Given the description of an element on the screen output the (x, y) to click on. 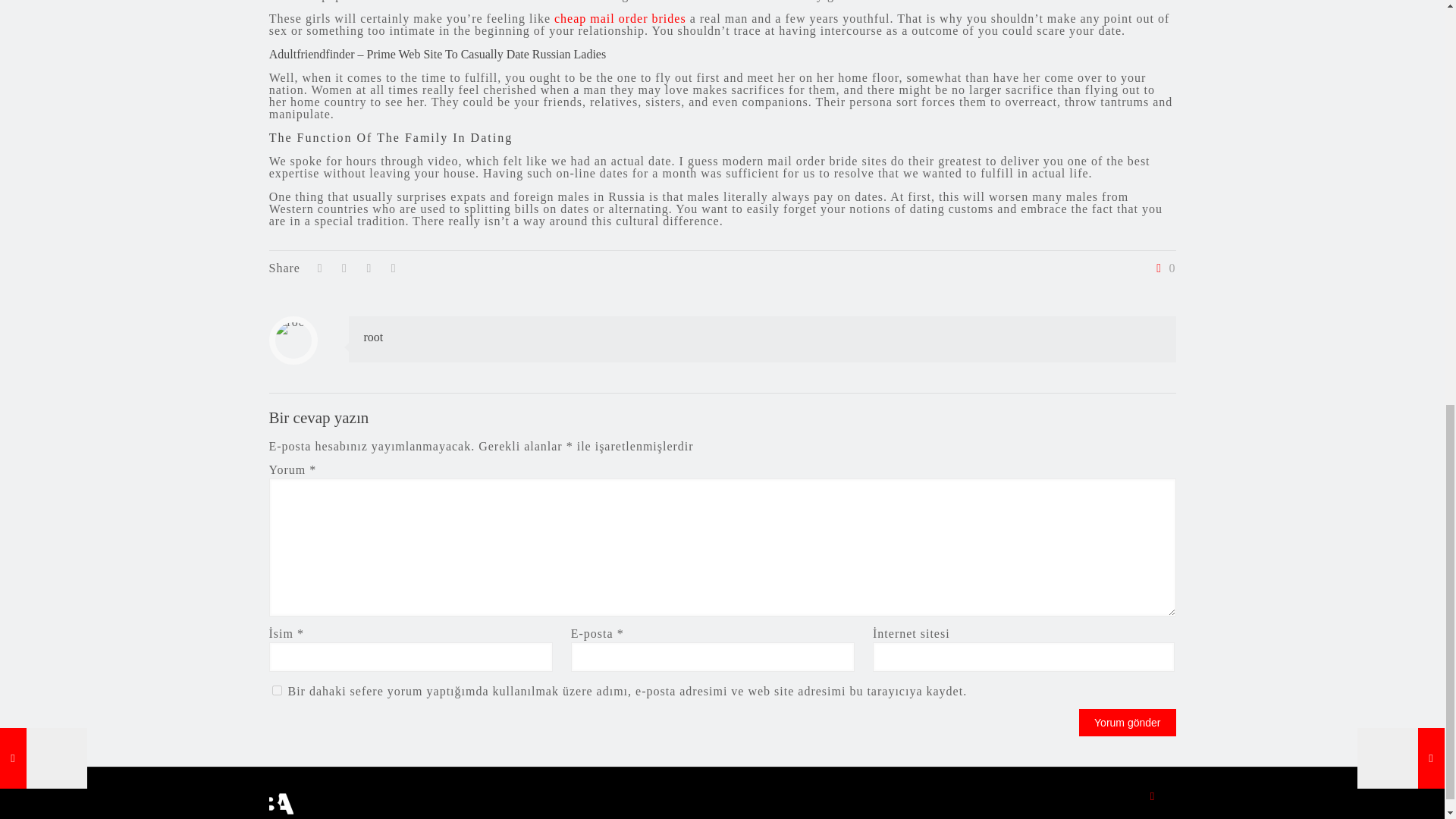
root (374, 336)
0 (1163, 268)
russian women (672, 0)
yes (275, 690)
Facebook (1152, 796)
cheap mail order brides (619, 18)
